Given the description of an element on the screen output the (x, y) to click on. 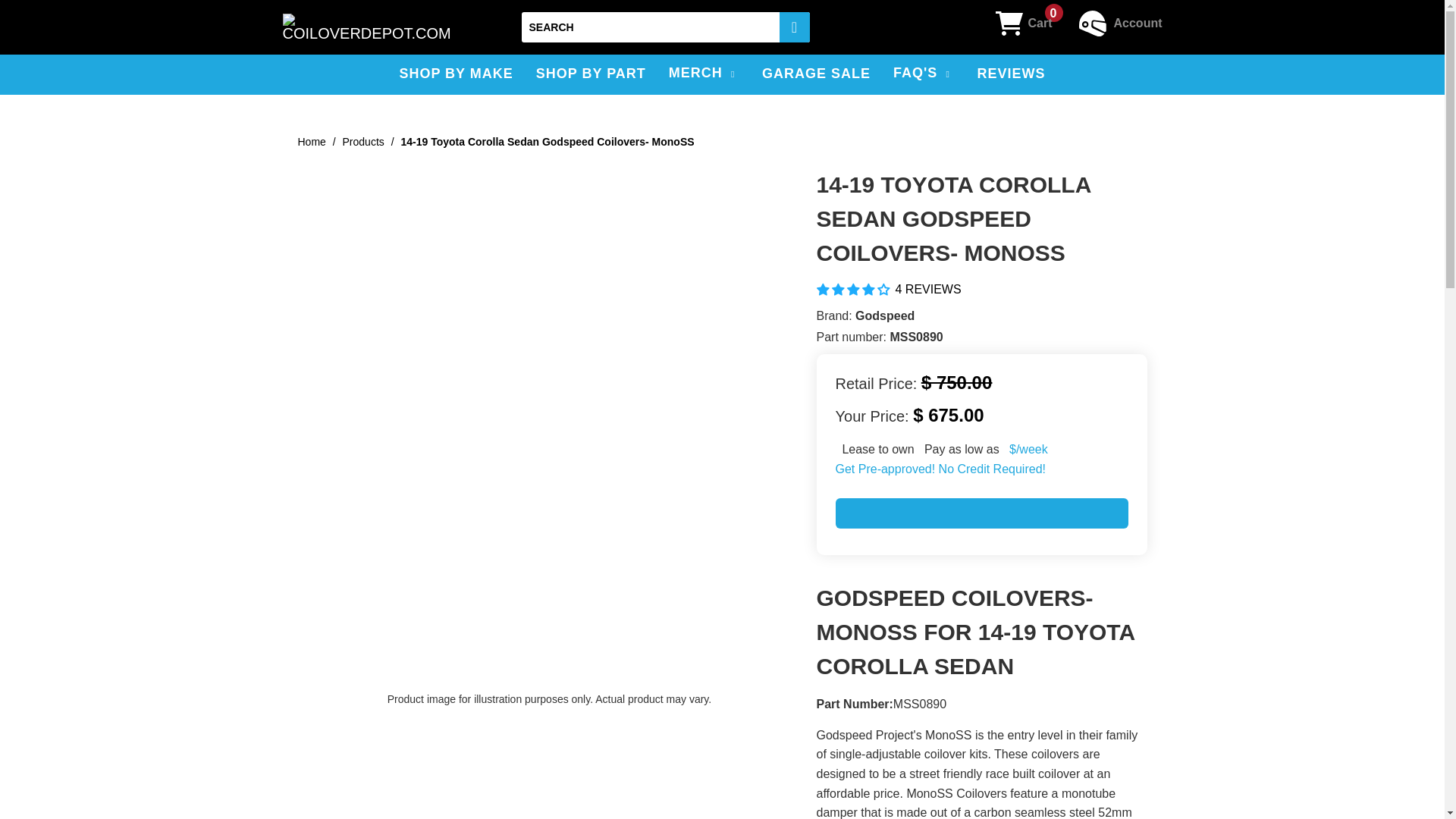
coiloverdepot.com (310, 141)
coiloverdepot.com (365, 26)
Products (363, 141)
